Given the description of an element on the screen output the (x, y) to click on. 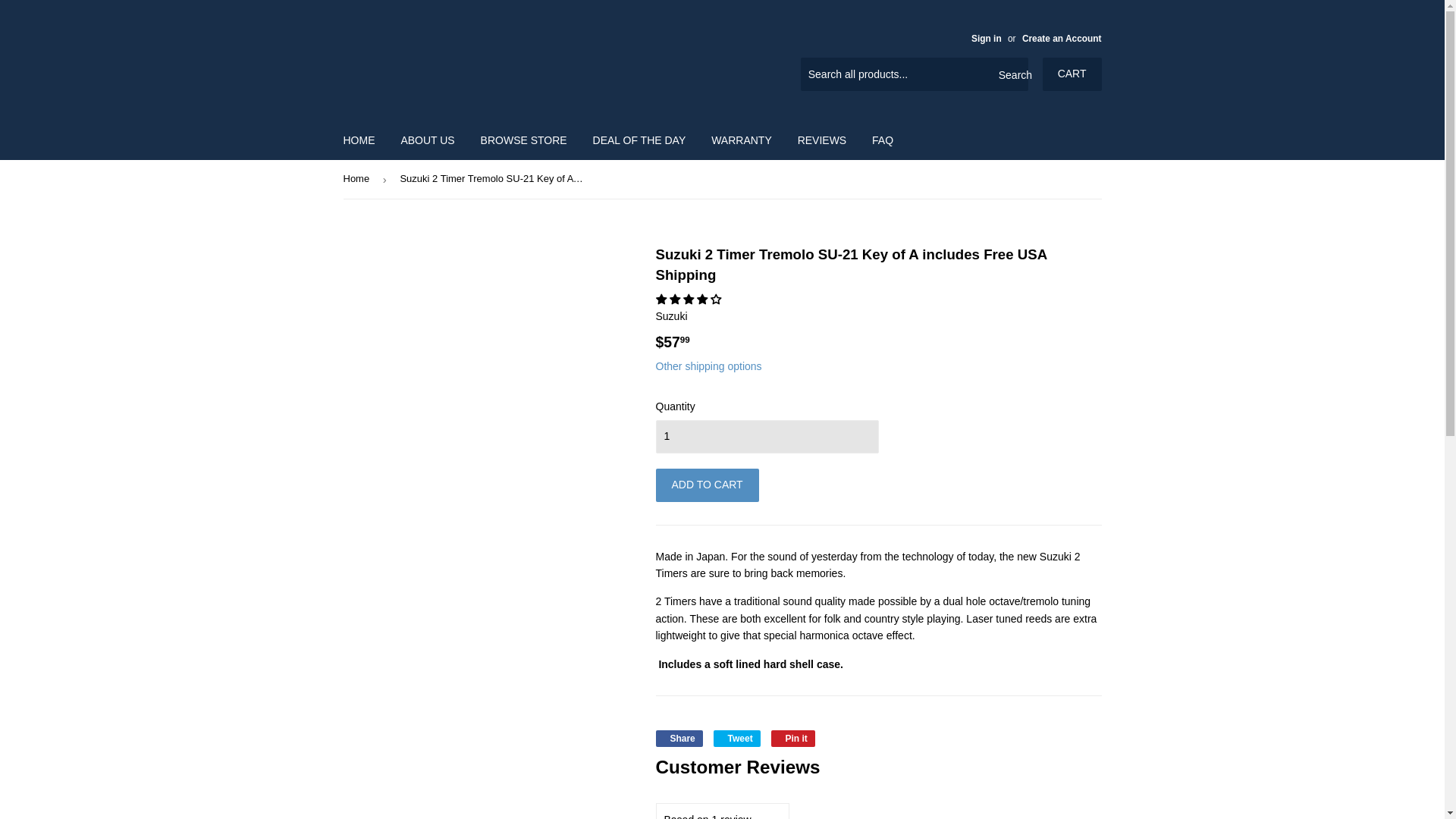
Tweet on Twitter (736, 738)
CART (1072, 73)
Search (1010, 74)
Pin on Pinterest (793, 738)
Create an Account (1062, 38)
1 (766, 436)
Share on Facebook (678, 738)
Sign in (986, 38)
